Given the description of an element on the screen output the (x, y) to click on. 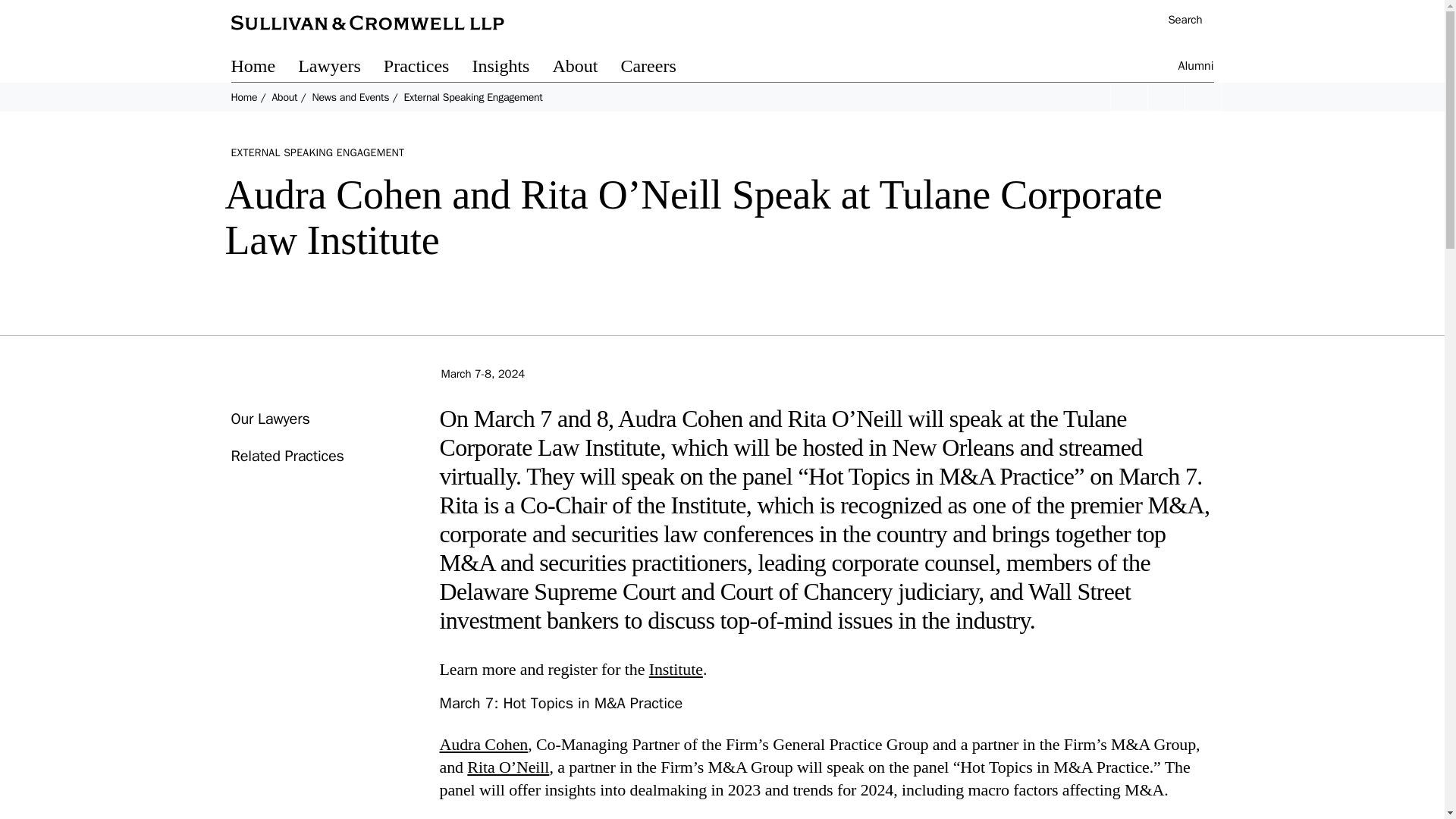
Lawyers (341, 67)
About (585, 67)
Search (1176, 20)
Practices (427, 67)
Careers (659, 67)
About (283, 97)
News and Events (349, 97)
Alumni (1195, 67)
Audra Cohen (483, 743)
Home (243, 97)
Audra Cohen (483, 743)
Home (264, 67)
Institute (676, 669)
Insights (511, 67)
Our Lawyers (269, 418)
